Given the description of an element on the screen output the (x, y) to click on. 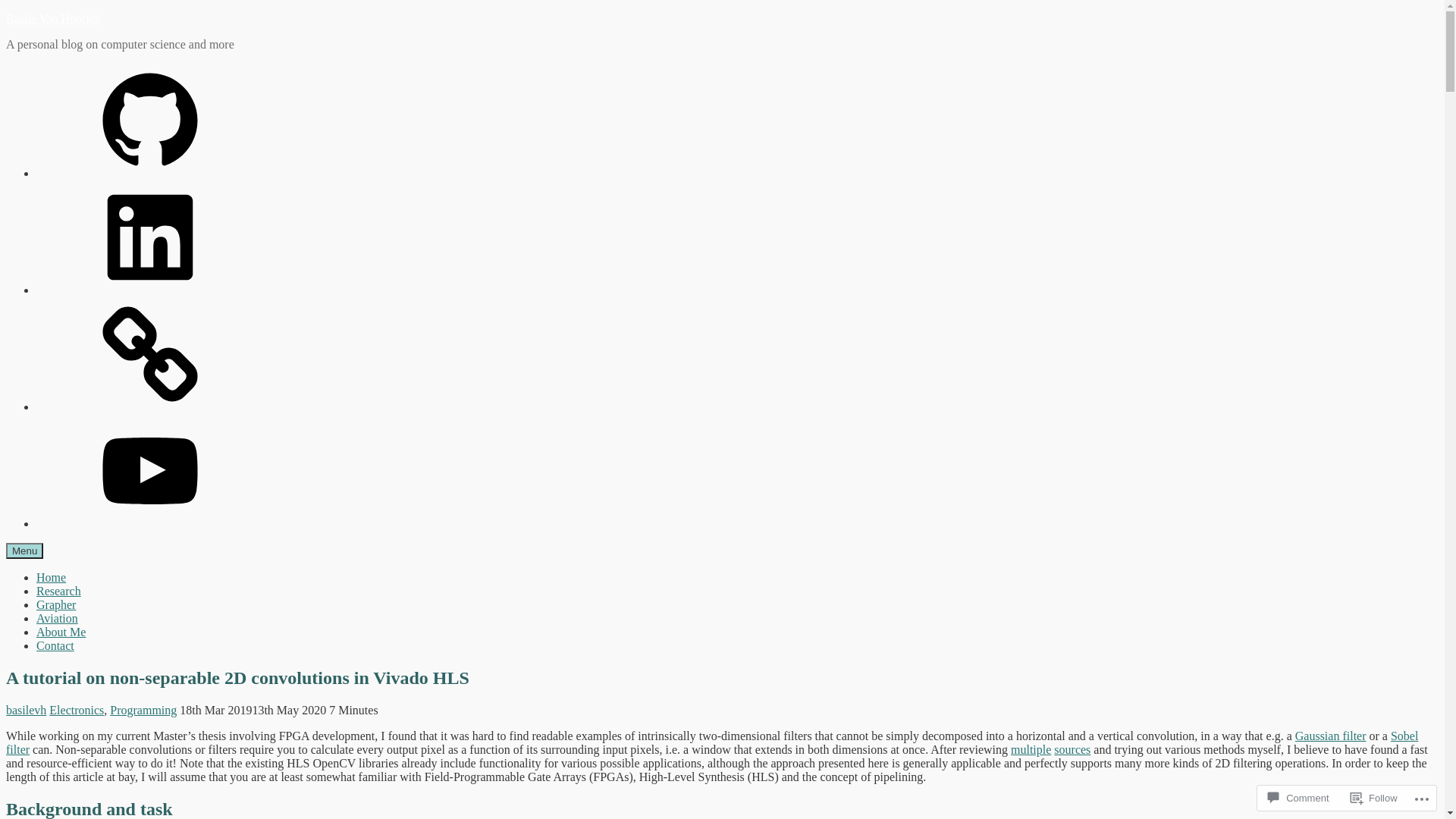
Gaussian filter Element type: text (1330, 735)
Comment Element type: text (1297, 797)
Aviation Element type: text (57, 617)
Contact Element type: text (55, 645)
Menu Element type: text (24, 550)
Research Element type: text (58, 590)
Home Element type: text (50, 577)
Electronics Element type: text (76, 709)
Grapher Element type: text (55, 604)
Programming Element type: text (142, 709)
Basile Van Hoorick Element type: text (53, 18)
About Me Element type: text (60, 631)
Sobel filter Element type: text (712, 742)
Follow Element type: text (1373, 797)
multiple Element type: text (1030, 749)
sources Element type: text (1072, 749)
basilevh Element type: text (26, 709)
